Given the description of an element on the screen output the (x, y) to click on. 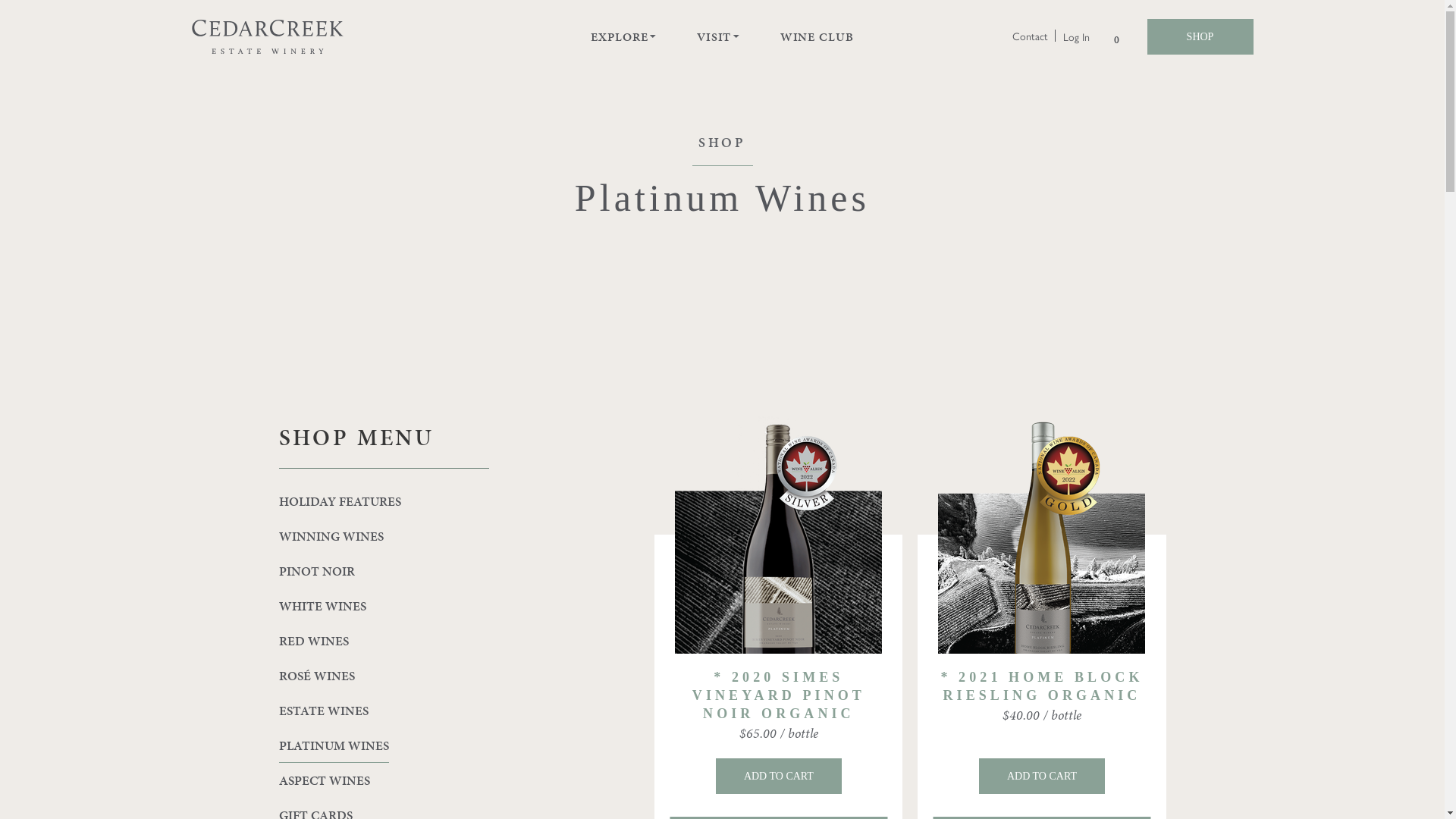
WHITE WINES Element type: text (384, 605)
PINOT NOIR Element type: text (384, 570)
ASPECT WINES Element type: text (384, 779)
PLATINUM WINES Element type: text (334, 745)
* 2021 HOME BLOCK RIESLING ORGANIC Element type: text (1041, 685)
Contact Element type: text (1030, 35)
WINNING WINES Element type: text (384, 535)
ADD TO CART Element type: text (778, 775)
SHOP Element type: text (1199, 36)
Log In Element type: text (1076, 36)
* 2020 SIMES VINEYARD PINOT NOIR ORGANIC Element type: text (778, 695)
ADD TO CART Element type: text (1041, 775)
EXPLORE Element type: text (618, 36)
RED WINES Element type: text (384, 640)
VISIT Element type: text (713, 36)
HOLIDAY FEATURES Element type: text (384, 500)
Cart
0
items: Element type: text (1115, 36)
Skip to content Element type: text (0, 0)
ESTATE WINES Element type: text (384, 710)
WINE CLUB Element type: text (817, 36)
